Given the description of an element on the screen output the (x, y) to click on. 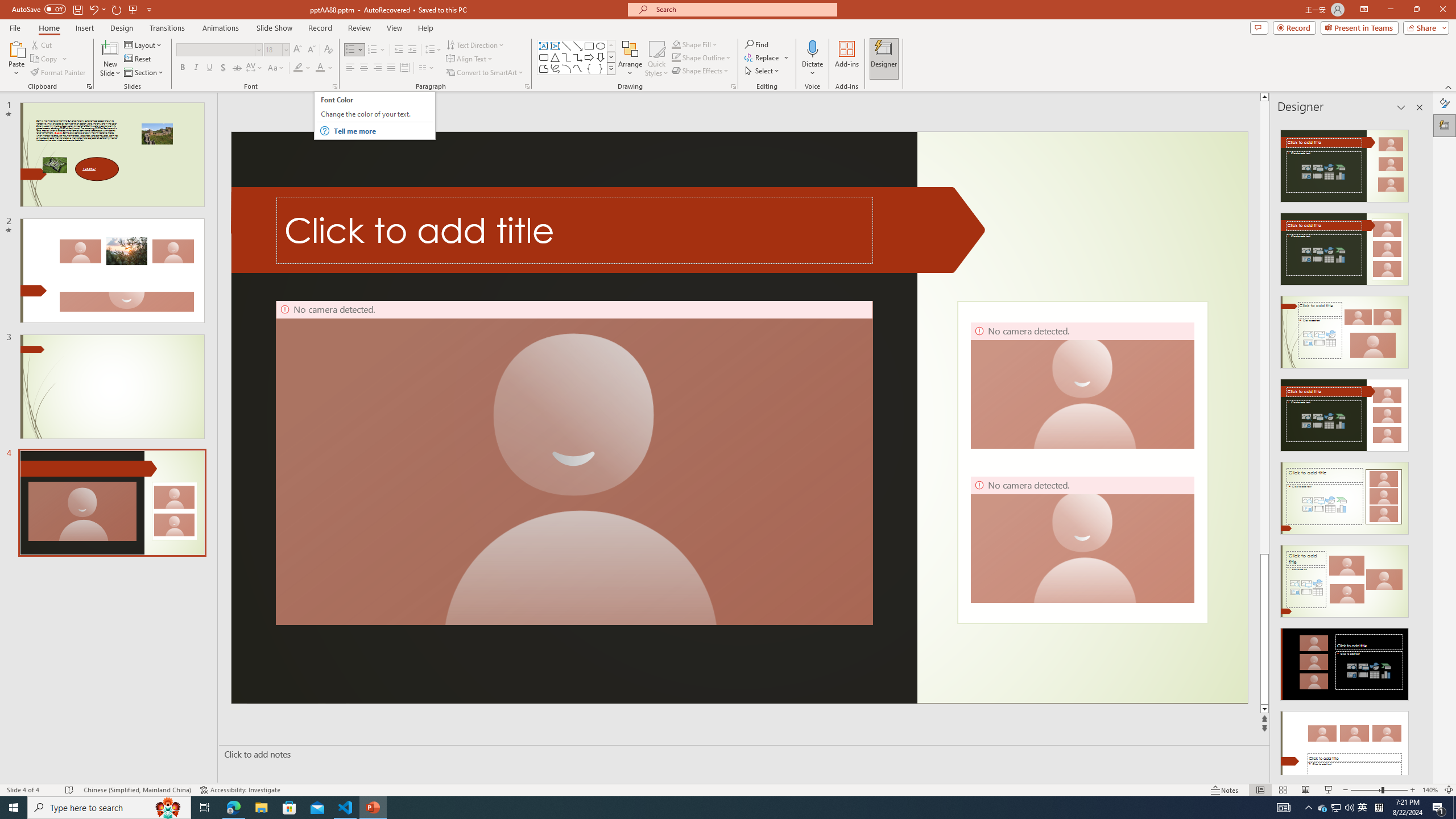
Camera 5, No camera detected. (574, 462)
Shape Fill Aqua, Accent 2 (675, 44)
